Given the description of an element on the screen output the (x, y) to click on. 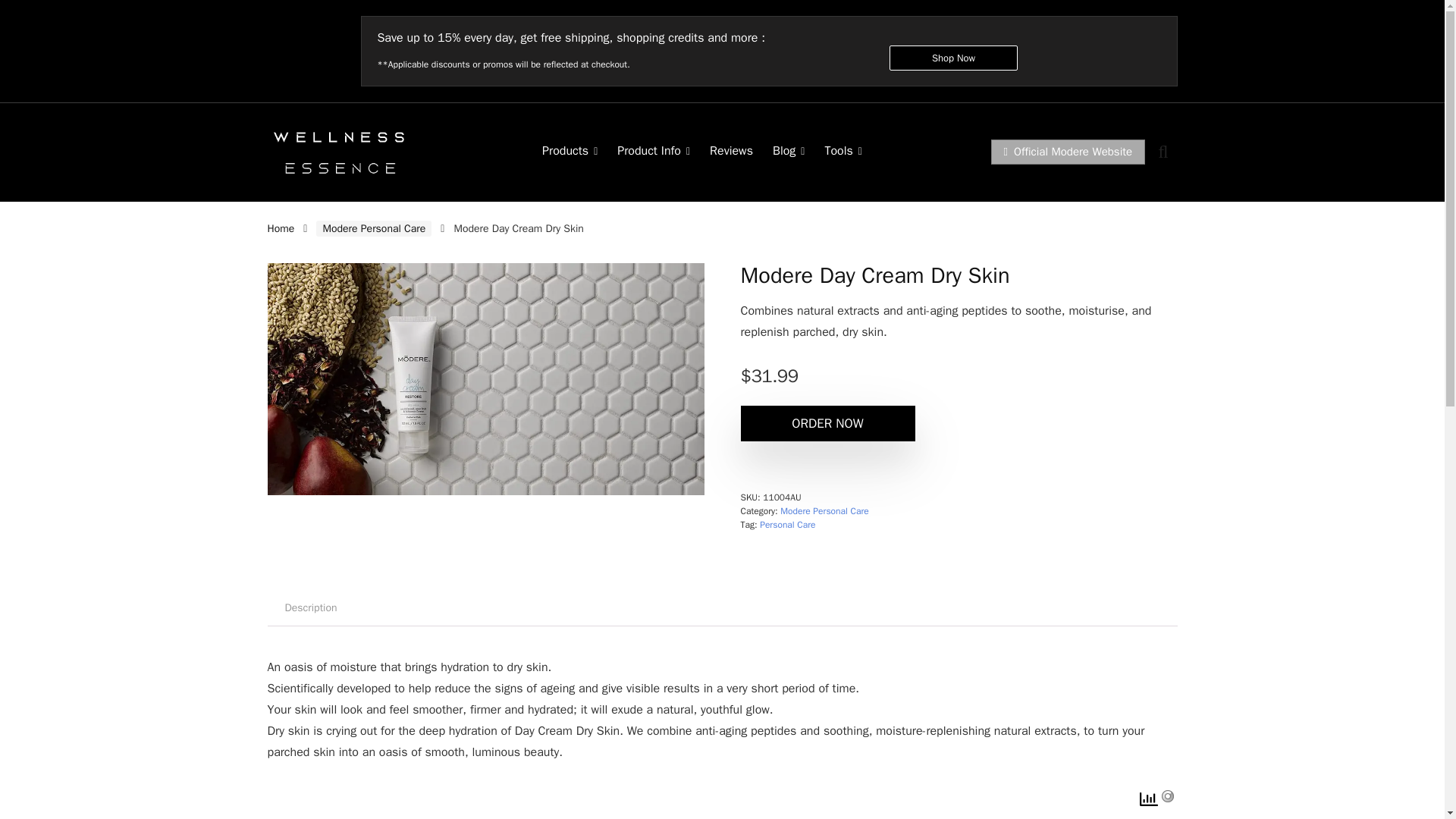
Modere Personal Care (372, 228)
Reviews (731, 152)
Products (569, 152)
ORDER NOW (826, 423)
Product Info (653, 152)
Home (280, 228)
Personal Care (787, 524)
Tools (842, 152)
Blog (787, 152)
Shop Now (953, 57)
Official Modere Website (1068, 151)
Description (309, 607)
Modere Personal Care (823, 510)
